Given the description of an element on the screen output the (x, y) to click on. 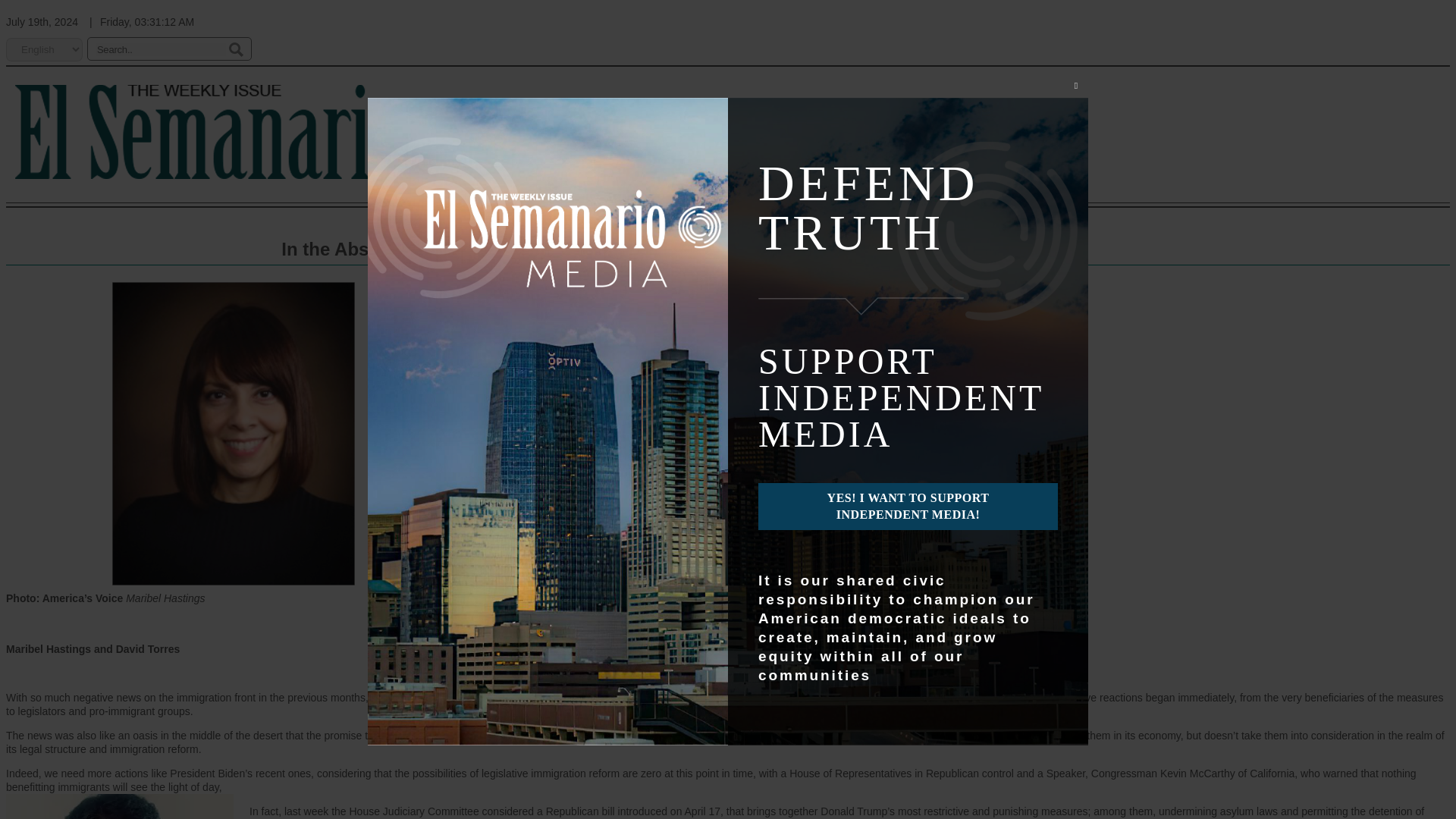
Search (235, 49)
Search (235, 49)
Search (235, 49)
